Given the description of an element on the screen output the (x, y) to click on. 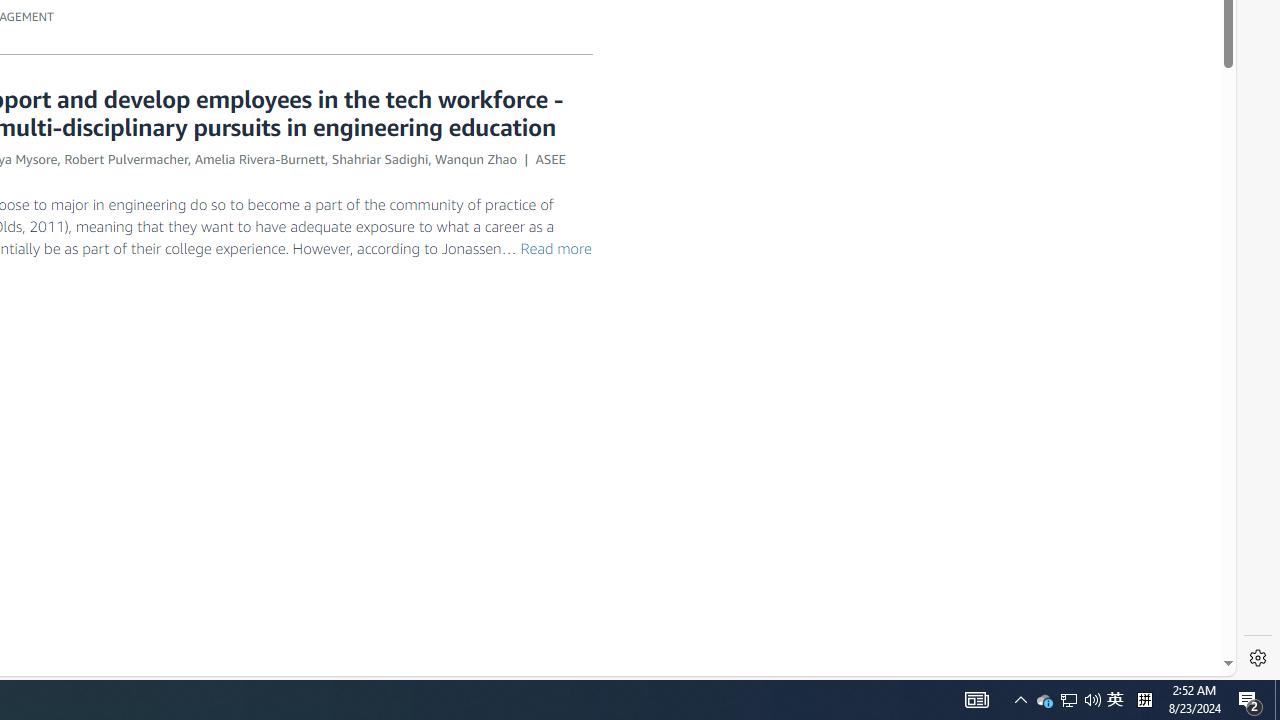
Shahriar Sadighi (379, 158)
Amelia Rivera-Burnett (260, 158)
Robert Pulvermacher (126, 158)
Read more (555, 247)
Wanqun Zhao (475, 158)
